Given the description of an element on the screen output the (x, y) to click on. 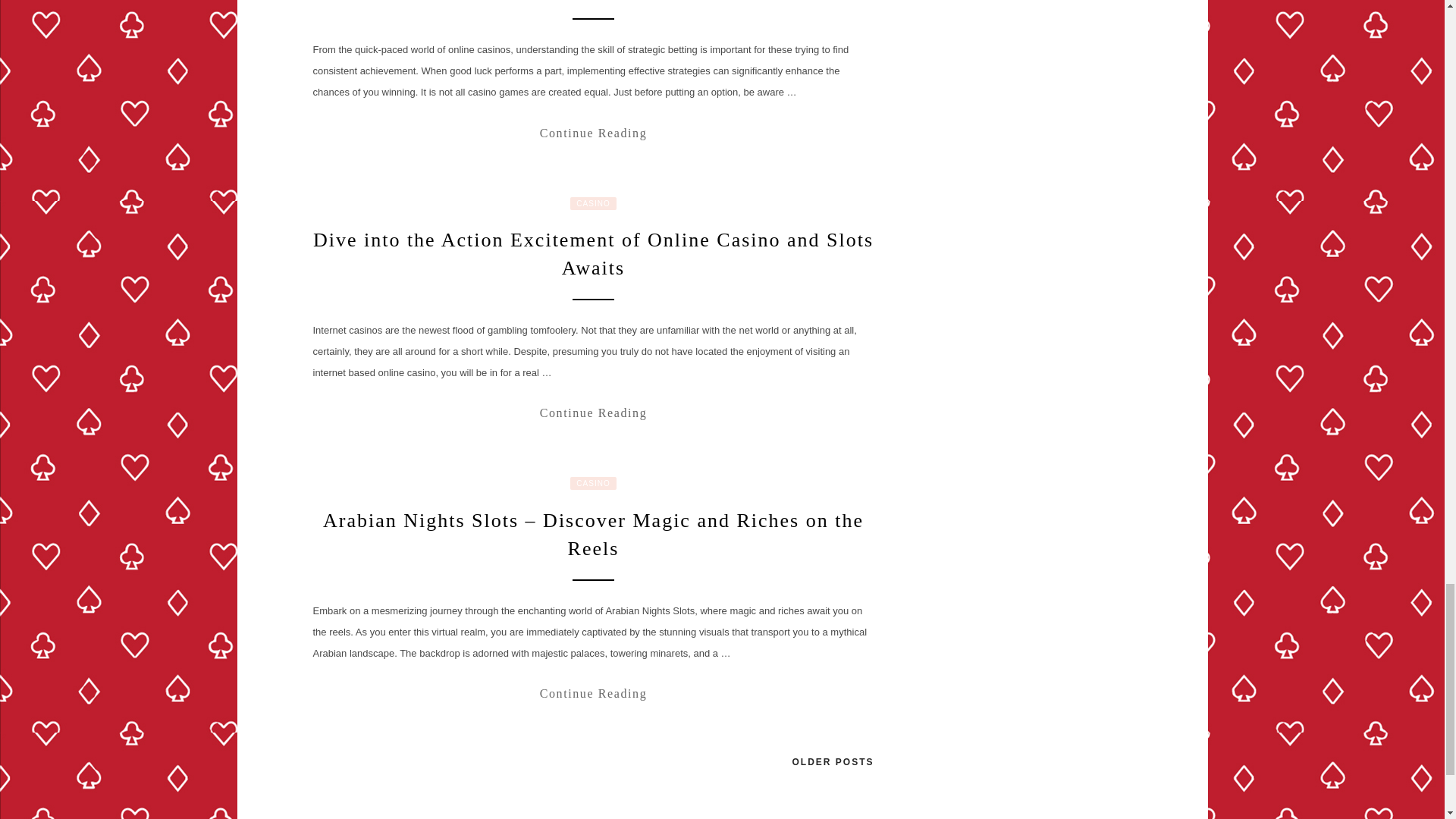
Continue Reading (593, 412)
CASINO (592, 203)
CASINO (592, 482)
Continue Reading (593, 132)
